Given the description of an element on the screen output the (x, y) to click on. 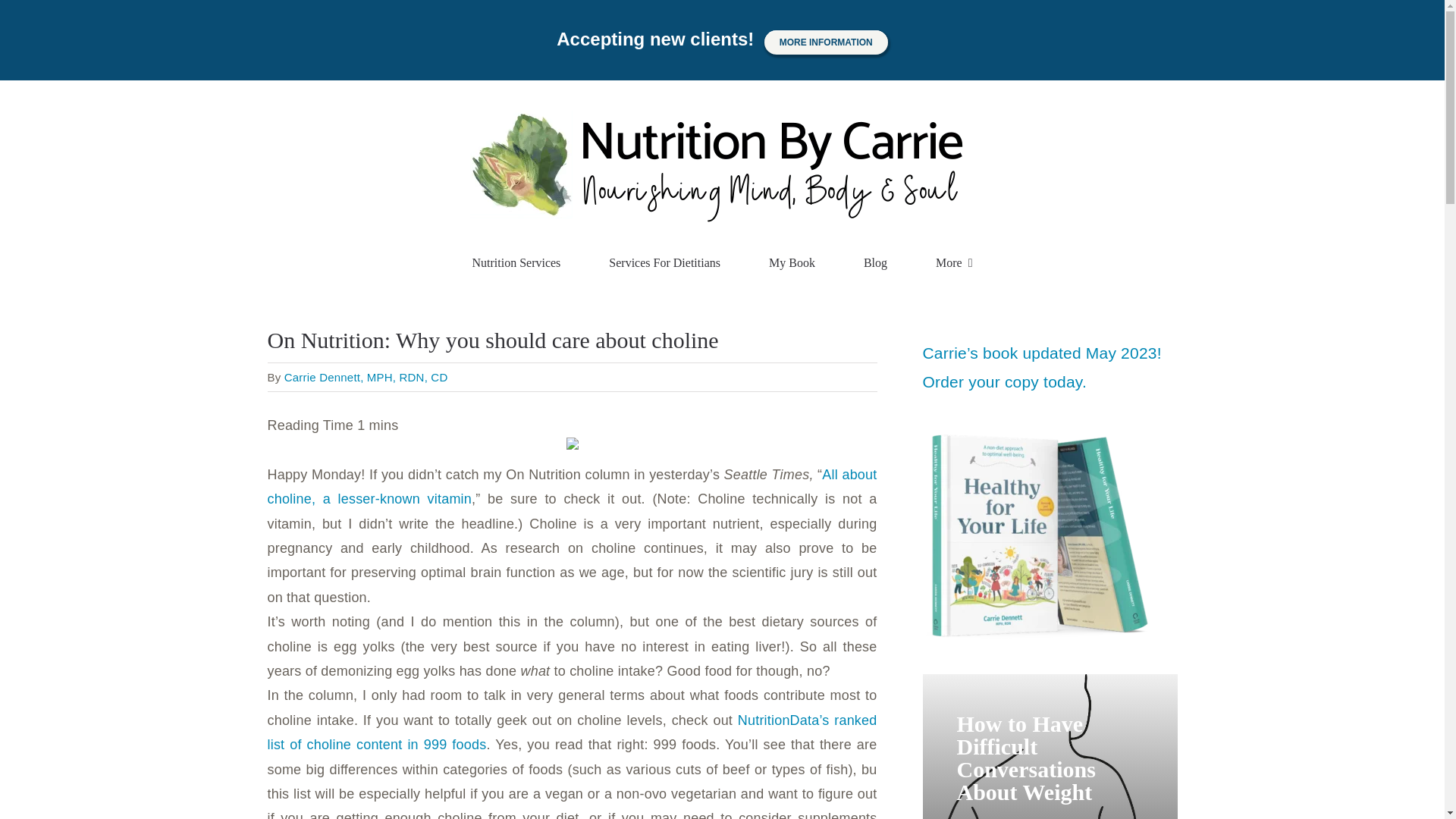
Services For Dietitians (664, 263)
All about choline, a lesser-known vitamin (571, 486)
MORE INFORMATION (826, 42)
Nutrition Services (515, 263)
Posts by Carrie Dennett, MPH, RDN, CD (365, 377)
My Book (791, 263)
Carrie Dennett, MPH, RDN, CD (365, 377)
